Given the description of an element on the screen output the (x, y) to click on. 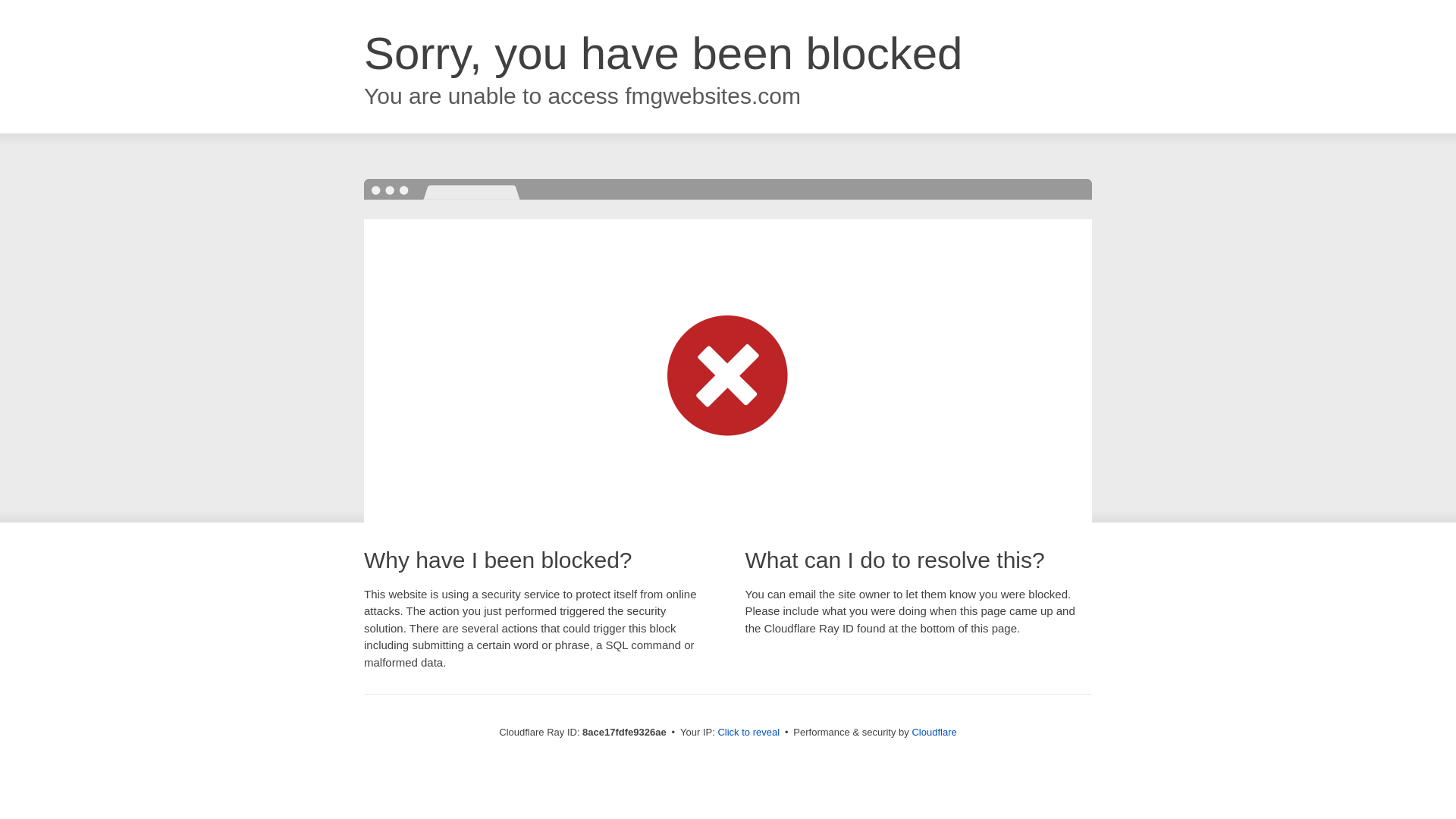
Click to reveal (747, 732)
Cloudflare (933, 731)
